Given the description of an element on the screen output the (x, y) to click on. 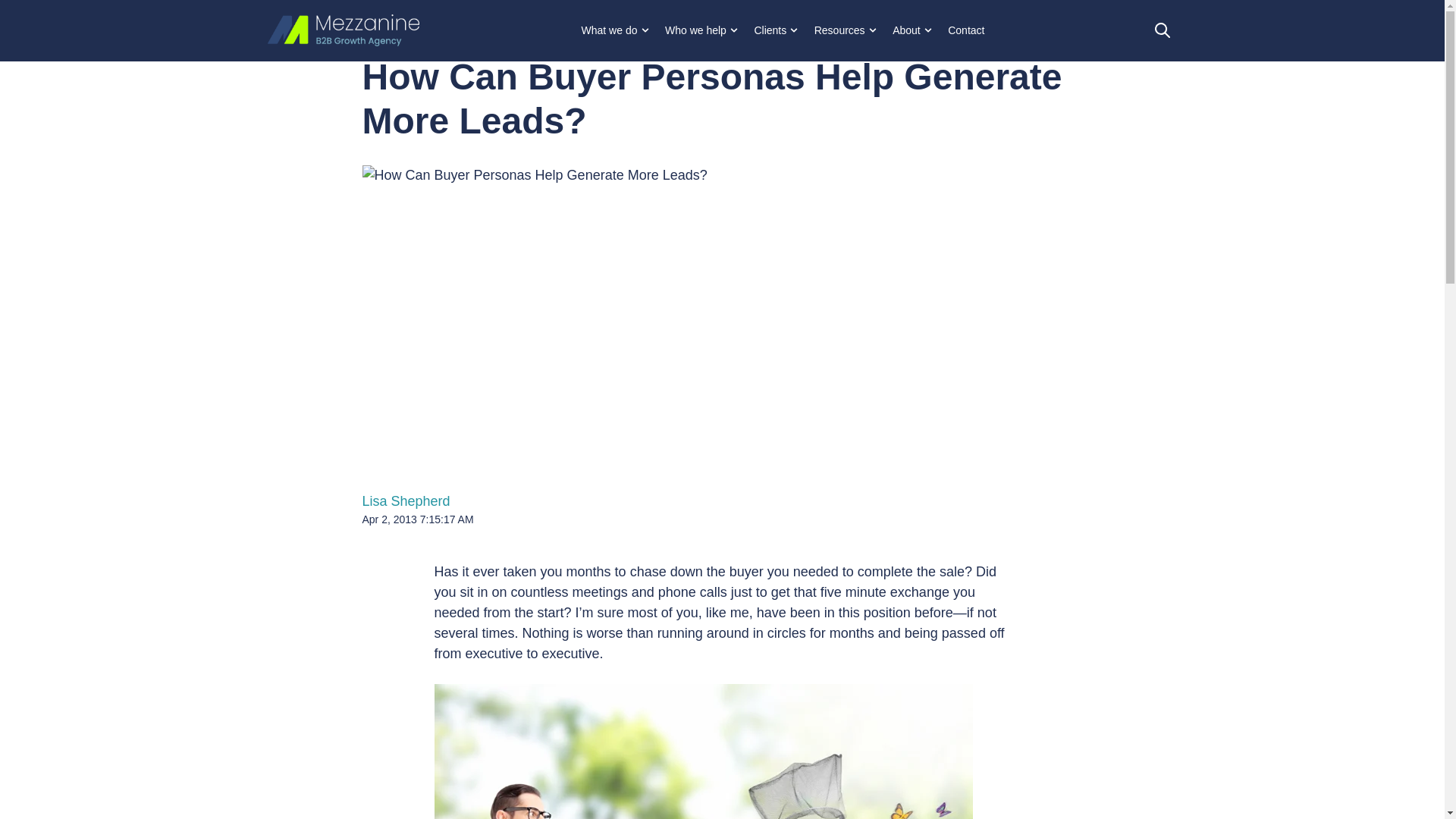
Who we help (701, 30)
Show submenu for About (932, 30)
Show submenu for Who we help (737, 30)
About (912, 30)
Clients (775, 30)
Show submenu for Clients (798, 30)
Show submenu for What we do (650, 30)
Resources (844, 30)
Show submenu for Resources (877, 30)
Contact (965, 30)
What we do (614, 30)
